Given the description of an element on the screen output the (x, y) to click on. 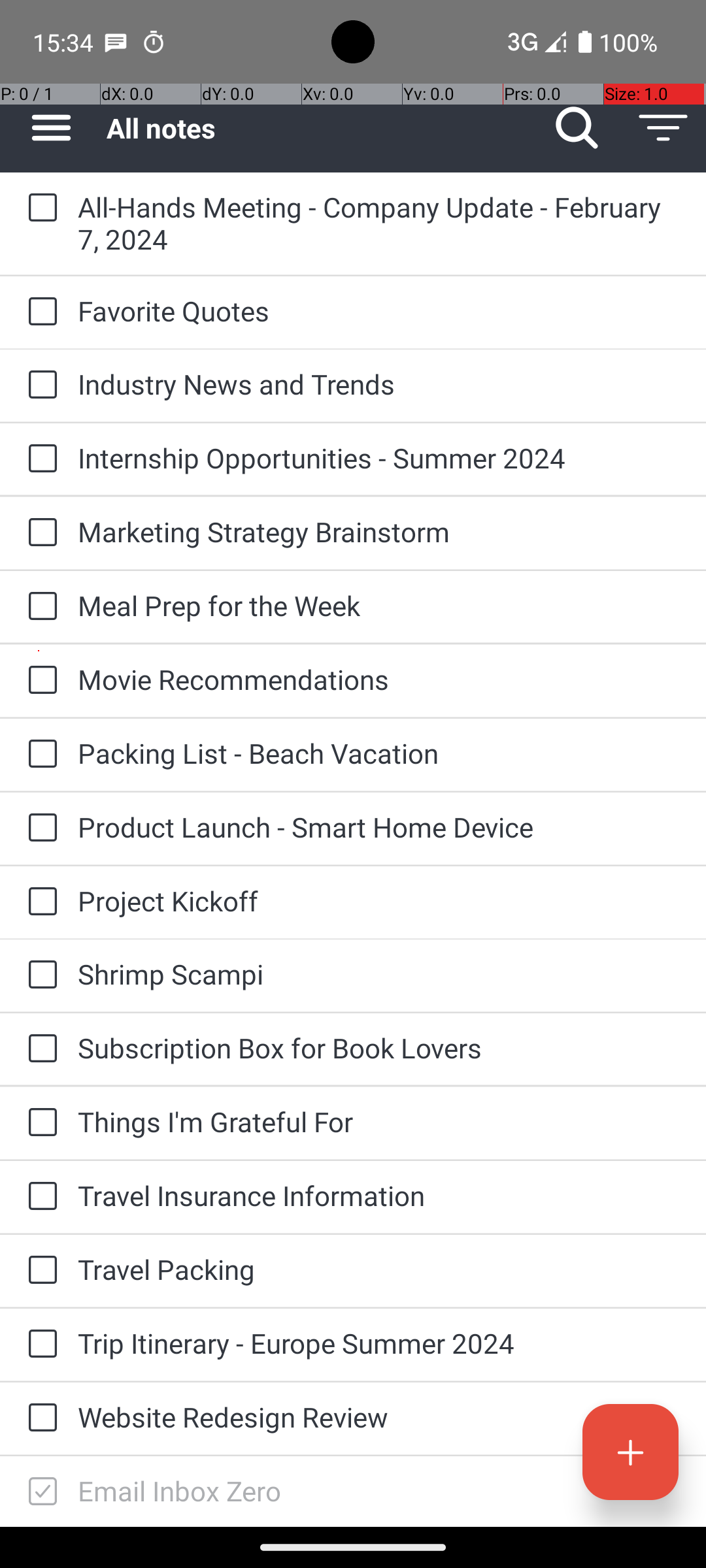
to-do: Favorite Quotes Element type: android.widget.CheckBox (38, 312)
Favorite Quotes Element type: android.widget.TextView (378, 310)
to-do: Industry News and Trends Element type: android.widget.CheckBox (38, 385)
Industry News and Trends Element type: android.widget.TextView (378, 383)
to-do: Marketing Strategy Brainstorm Element type: android.widget.CheckBox (38, 533)
Marketing Strategy Brainstorm Element type: android.widget.TextView (378, 531)
to-do: Meal Prep for the Week Element type: android.widget.CheckBox (38, 606)
to-do: Packing List - Beach Vacation Element type: android.widget.CheckBox (38, 754)
Packing List - Beach Vacation Element type: android.widget.TextView (378, 752)
to-do: Product Launch - Smart Home Device Element type: android.widget.CheckBox (38, 828)
Product Launch - Smart Home Device Element type: android.widget.TextView (378, 826)
to-do: Shrimp Scampi Element type: android.widget.CheckBox (38, 975)
Shrimp Scampi Element type: android.widget.TextView (378, 973)
to-do: Subscription Box for Book Lovers Element type: android.widget.CheckBox (38, 1049)
Subscription Box for Book Lovers Element type: android.widget.TextView (378, 1047)
to-do: Things I'm Grateful For Element type: android.widget.CheckBox (38, 1123)
Things I'm Grateful For Element type: android.widget.TextView (378, 1121)
to-do: Travel Insurance Information Element type: android.widget.CheckBox (38, 1196)
Travel Insurance Information Element type: android.widget.TextView (378, 1194)
to-do: Travel Packing Element type: android.widget.CheckBox (38, 1270)
Travel Packing Element type: android.widget.TextView (378, 1268)
to-do: Trip Itinerary - Europe Summer 2024 Element type: android.widget.CheckBox (38, 1344)
Trip Itinerary - Europe Summer 2024 Element type: android.widget.TextView (378, 1342)
to-do: Website Redesign Review Element type: android.widget.CheckBox (38, 1418)
Website Redesign Review Element type: android.widget.TextView (378, 1416)
to-do: Email Inbox Zero Element type: android.widget.CheckBox (38, 1491)
Email Inbox Zero Element type: android.widget.TextView (378, 1490)
